Given the description of an element on the screen output the (x, y) to click on. 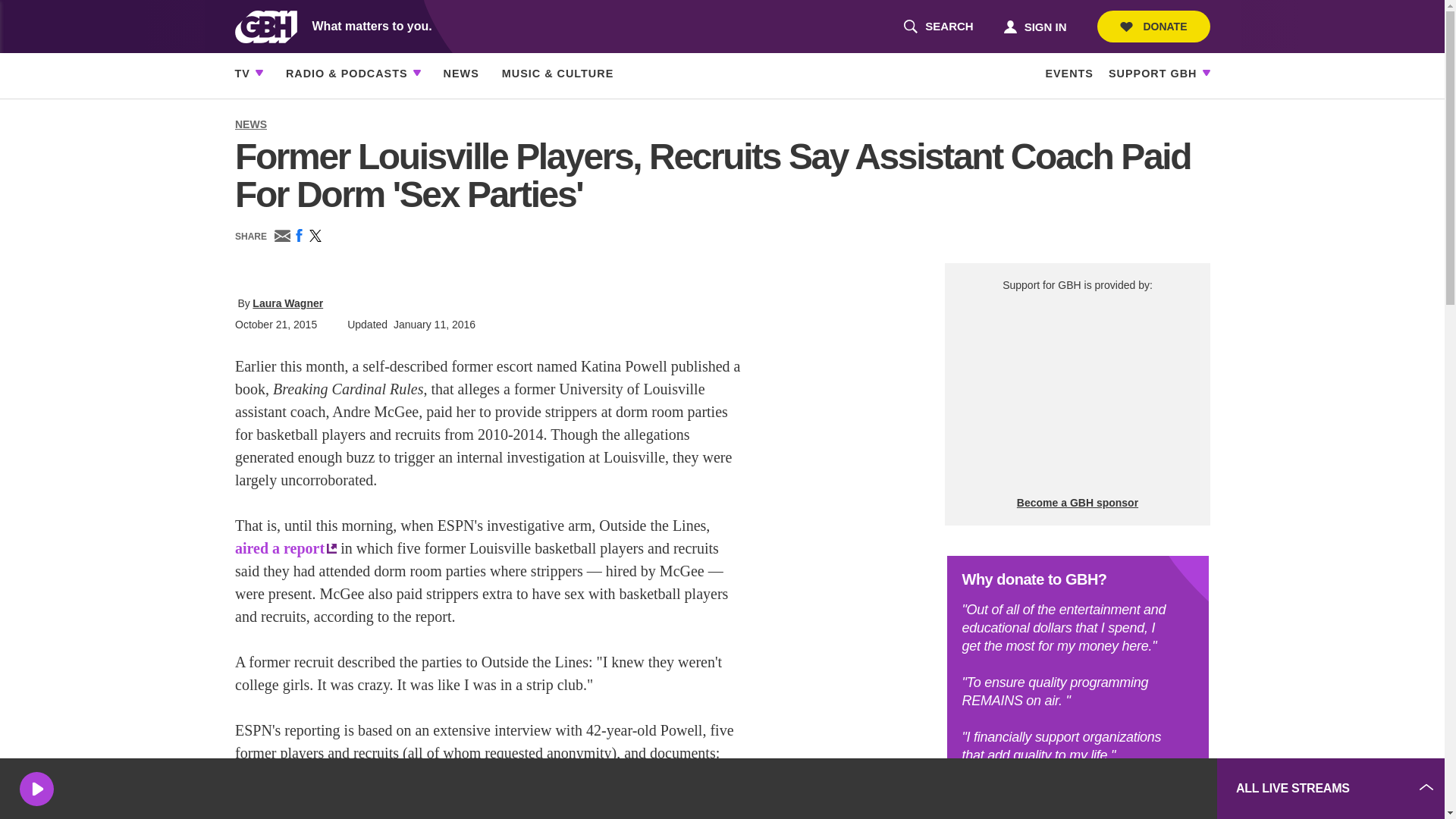
DONATE (1153, 26)
3rd party ad content (1091, 788)
SIGN IN (1034, 25)
3rd party ad content (1076, 393)
